Given the description of an element on the screen output the (x, y) to click on. 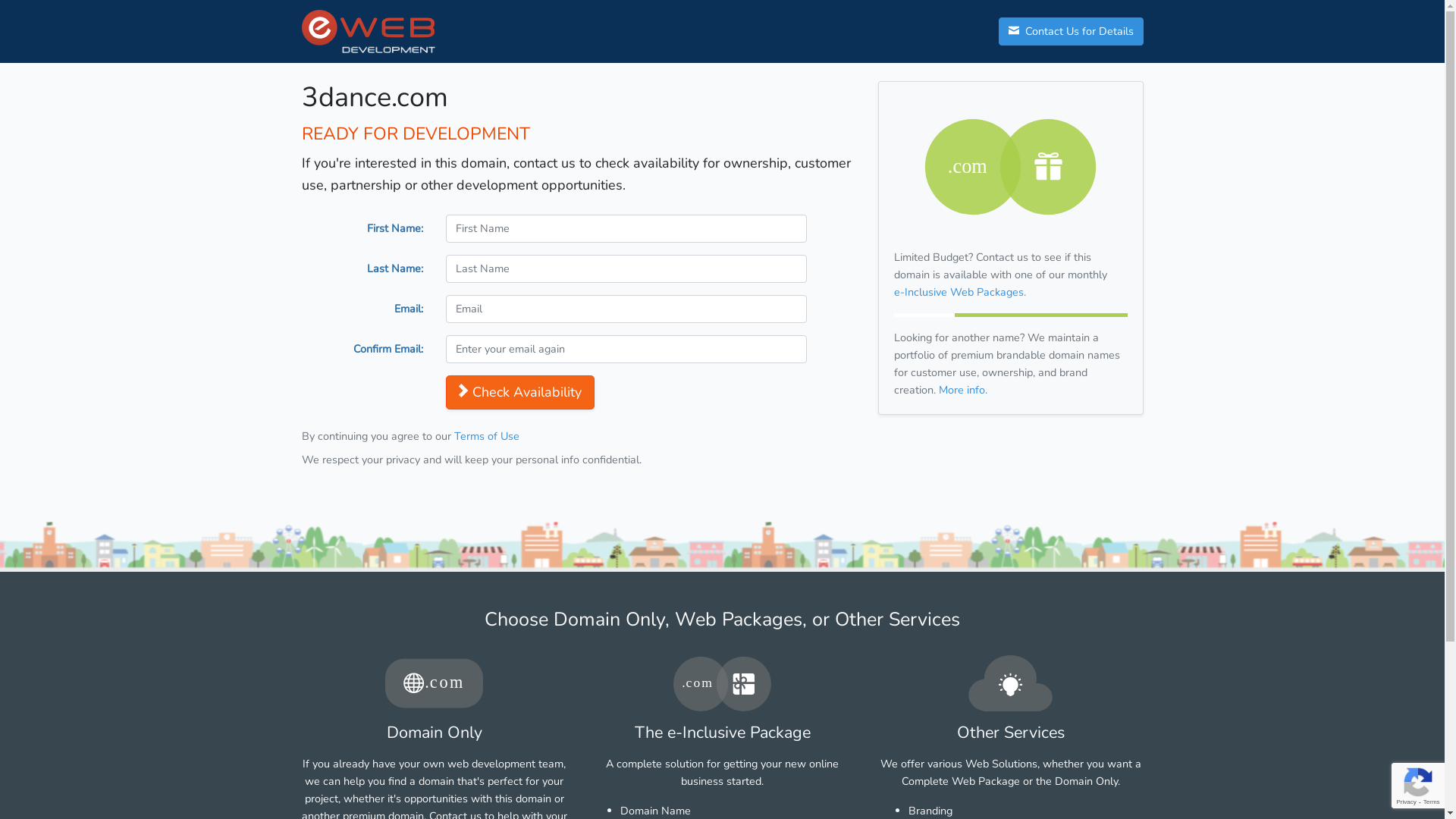
More info. Element type: text (962, 389)
Terms of Use Element type: text (485, 435)
Contact Us for Details Element type: text (1069, 31)
e-Inclusive Web Packages. Element type: text (959, 291)
Check Availability Element type: text (519, 392)
